Given the description of an element on the screen output the (x, y) to click on. 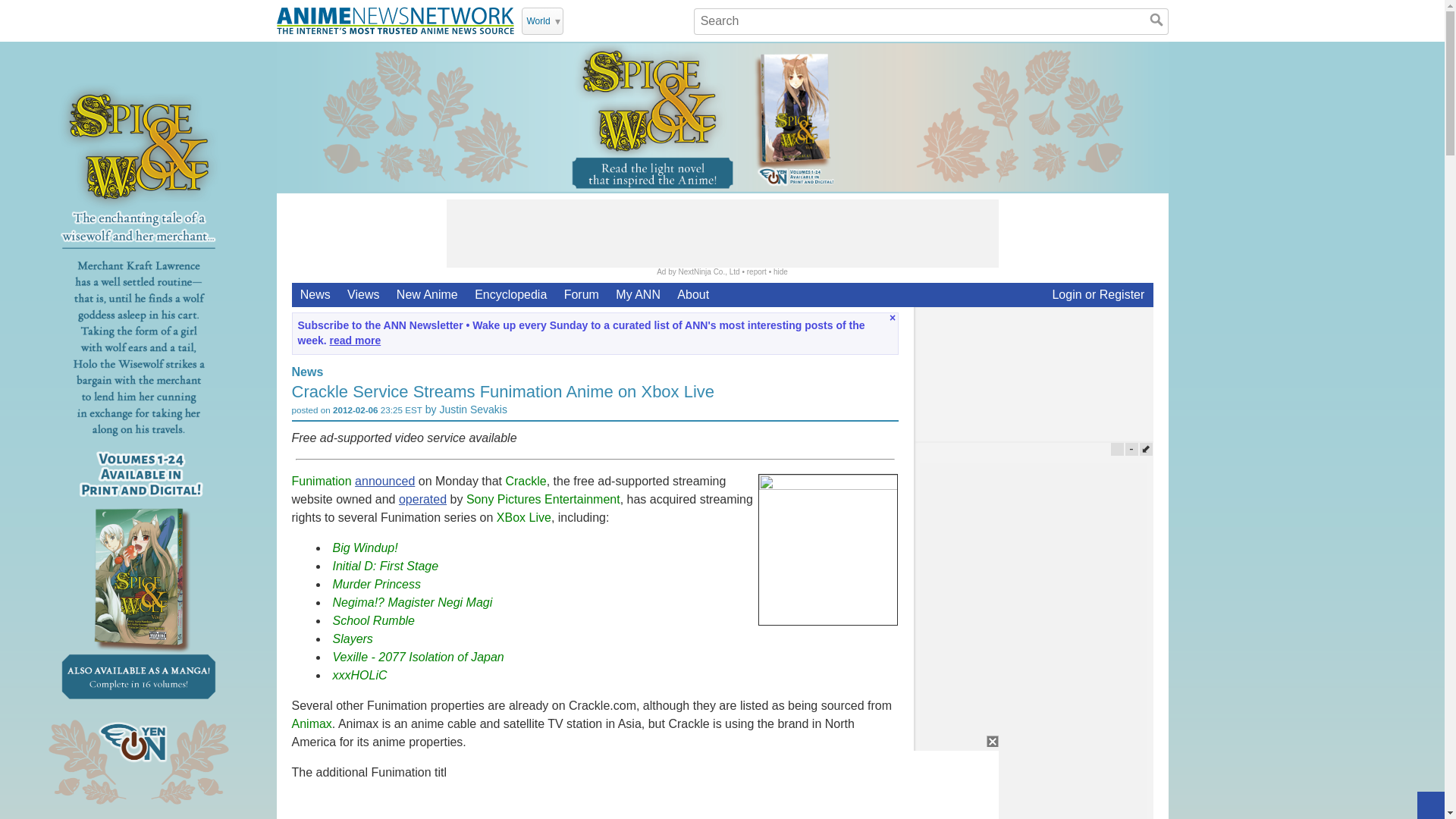
Return to Homepage (394, 20)
TikTok (656, 20)
Twitter (577, 20)
Choose Your Edition (542, 21)
Youtube (597, 20)
Facebook (617, 20)
Instagram (636, 20)
Bluesky (675, 20)
